Given the description of an element on the screen output the (x, y) to click on. 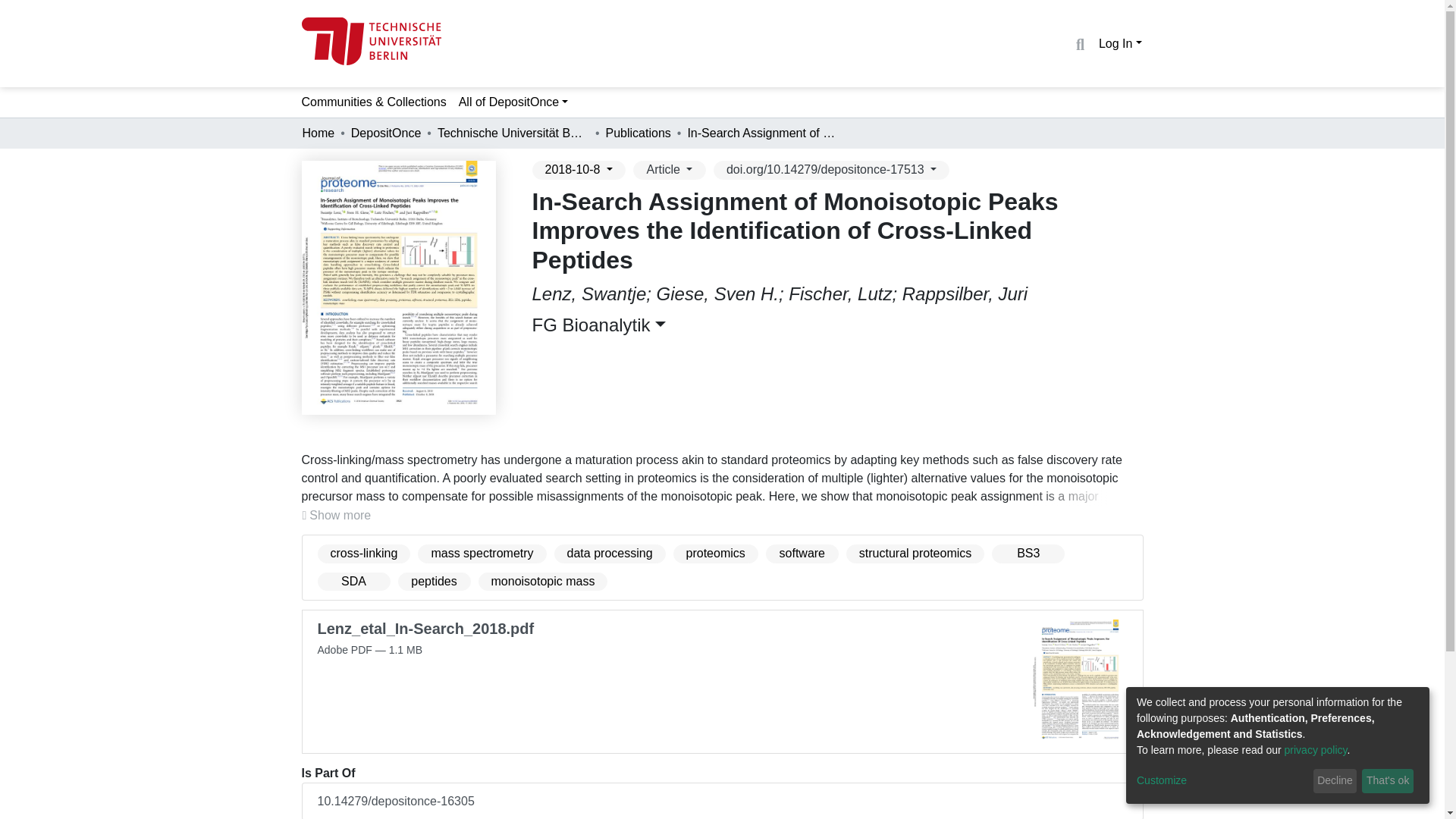
TU Berlin (371, 40)
software (801, 553)
Show more (336, 515)
All of DepositOnce (513, 101)
peptides (433, 581)
Fischer, Lutz (840, 293)
DepositOnce (386, 133)
monoisotopic mass (542, 581)
Lenz, Swantje (589, 293)
data processing (609, 553)
proteomics (715, 553)
Search (1079, 45)
Home (317, 133)
Publications (638, 133)
SDA (353, 581)
